Given the description of an element on the screen output the (x, y) to click on. 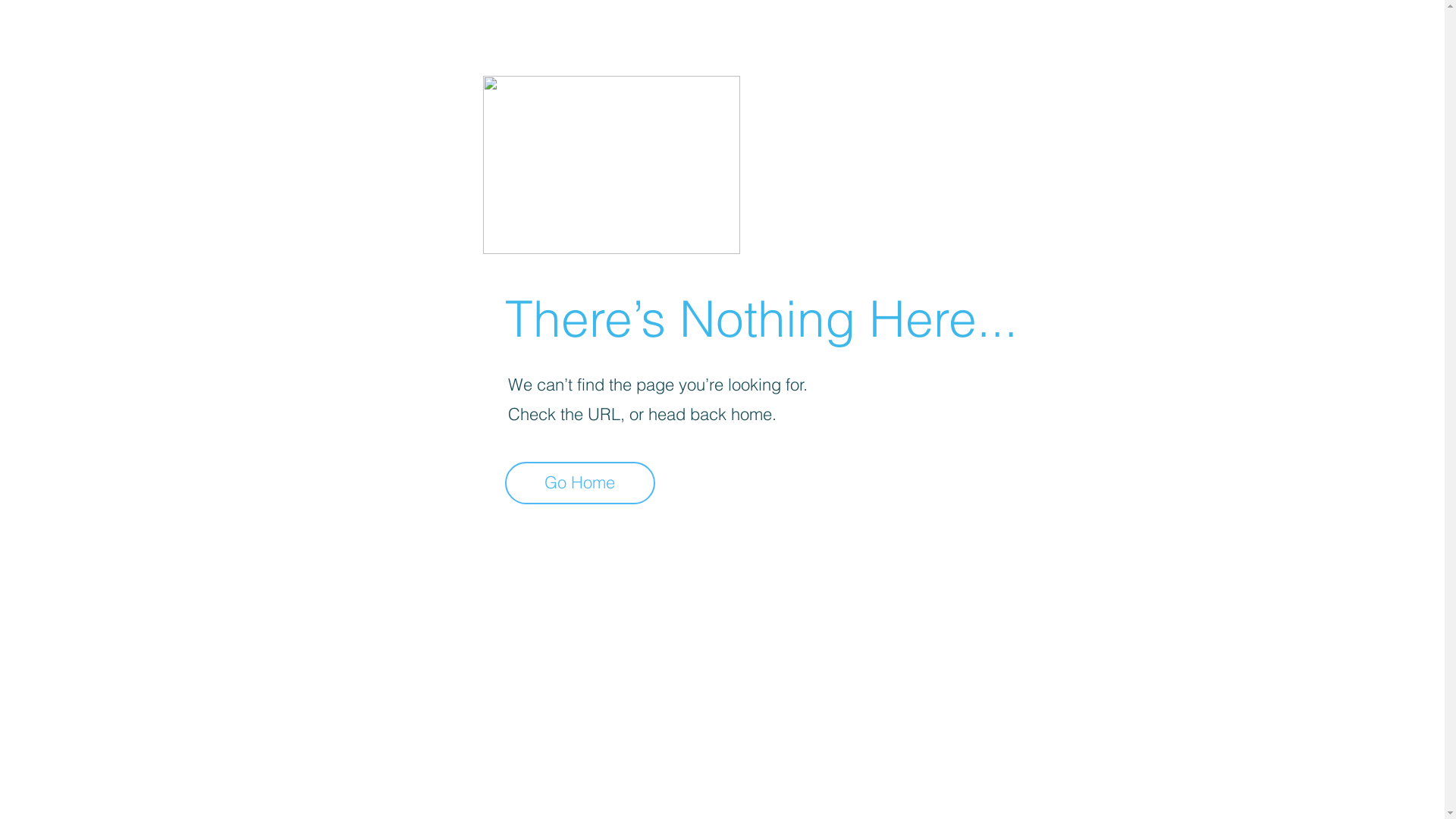
Go Home Element type: text (580, 482)
404-icon_2.png Element type: hover (610, 164)
